Given the description of an element on the screen output the (x, y) to click on. 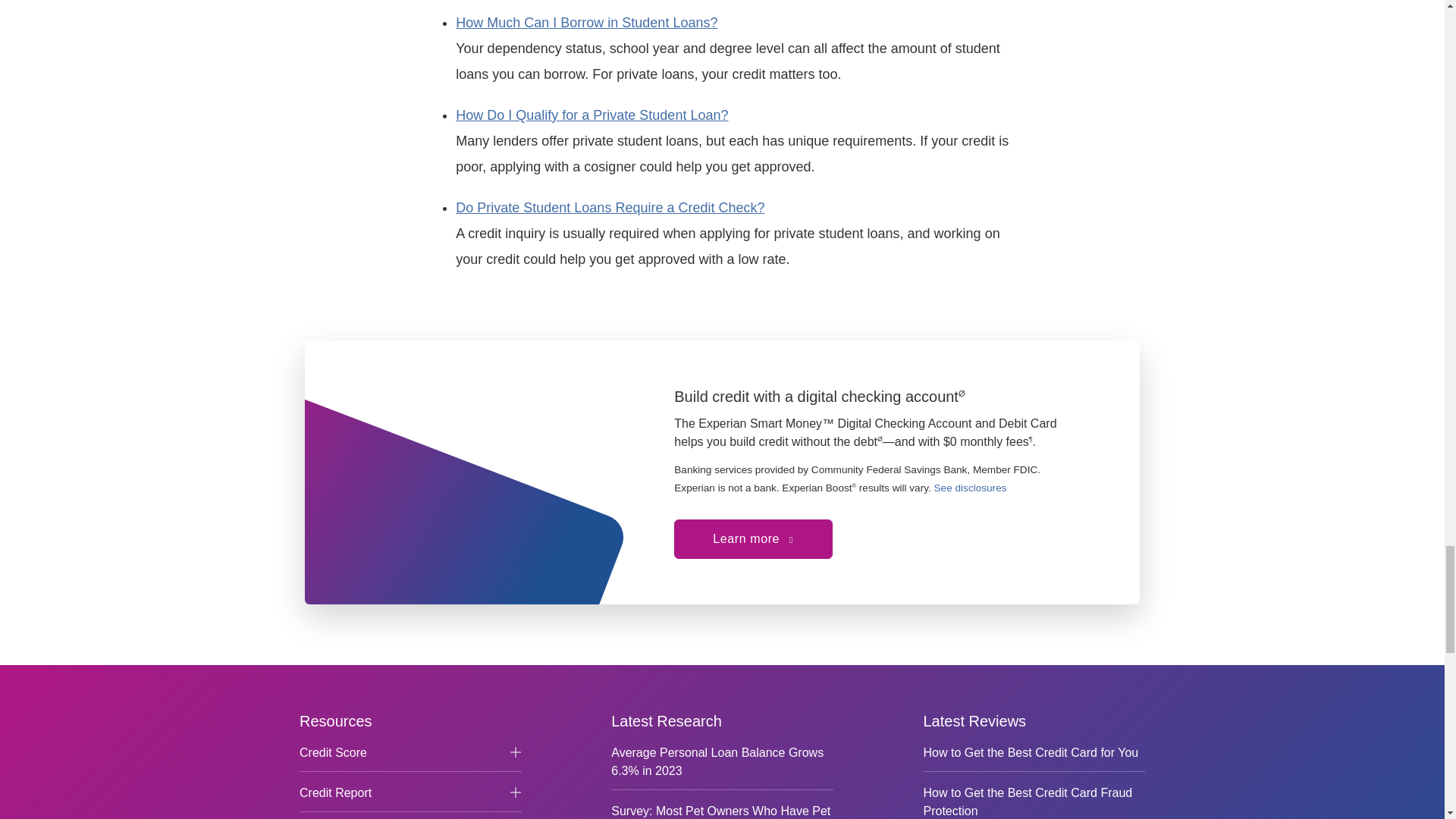
Learn more (459, 490)
